Given the description of an element on the screen output the (x, y) to click on. 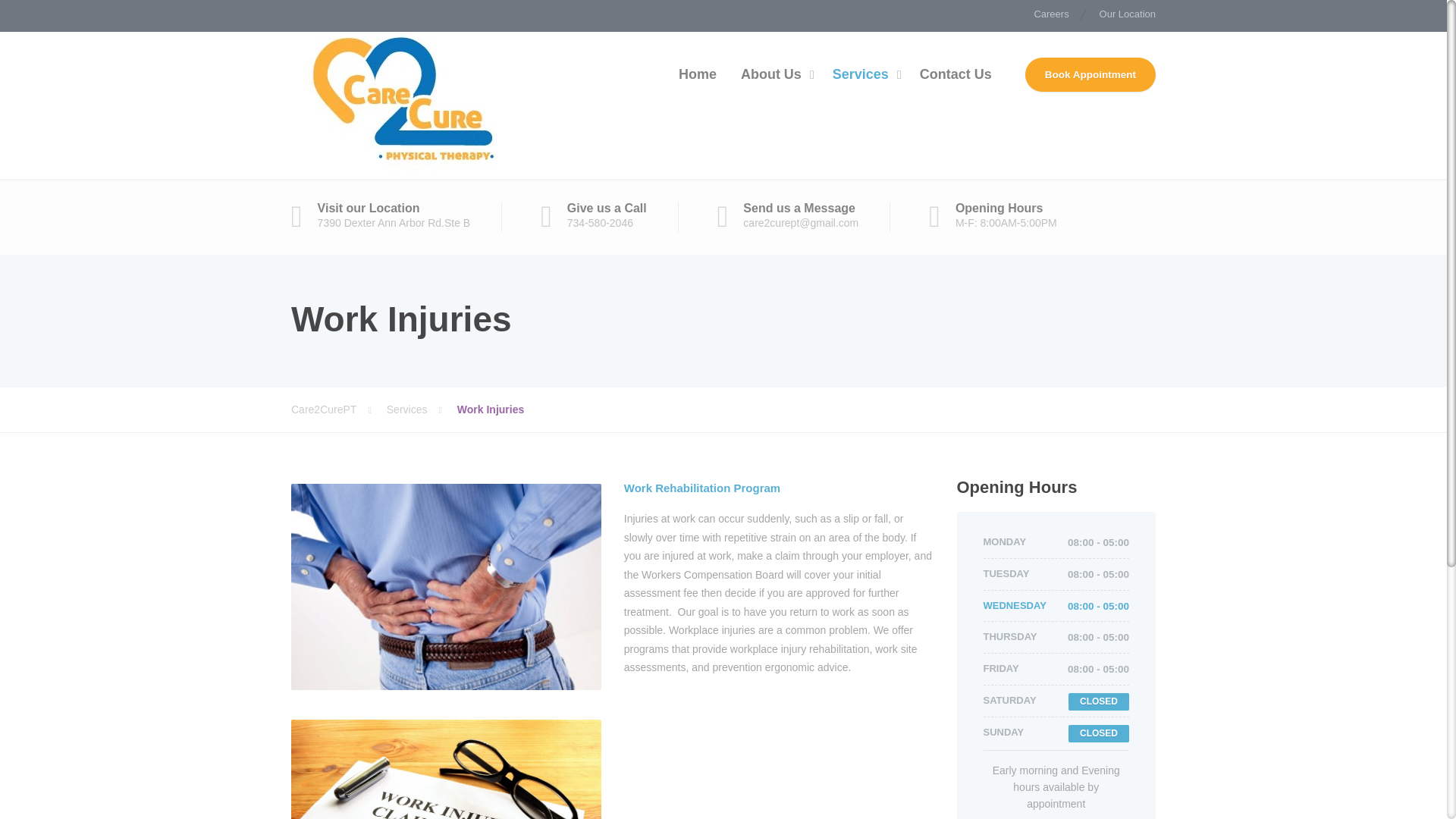
Careers (1051, 15)
Care2CurePT (404, 105)
Care2CurePT (339, 409)
Our Location (1121, 15)
Services (863, 74)
Services (422, 409)
Contact Us (955, 74)
Book Appointment (1090, 74)
Go to Care2CurePT. (339, 409)
Go to Services. (422, 409)
About Us (774, 74)
